Given the description of an element on the screen output the (x, y) to click on. 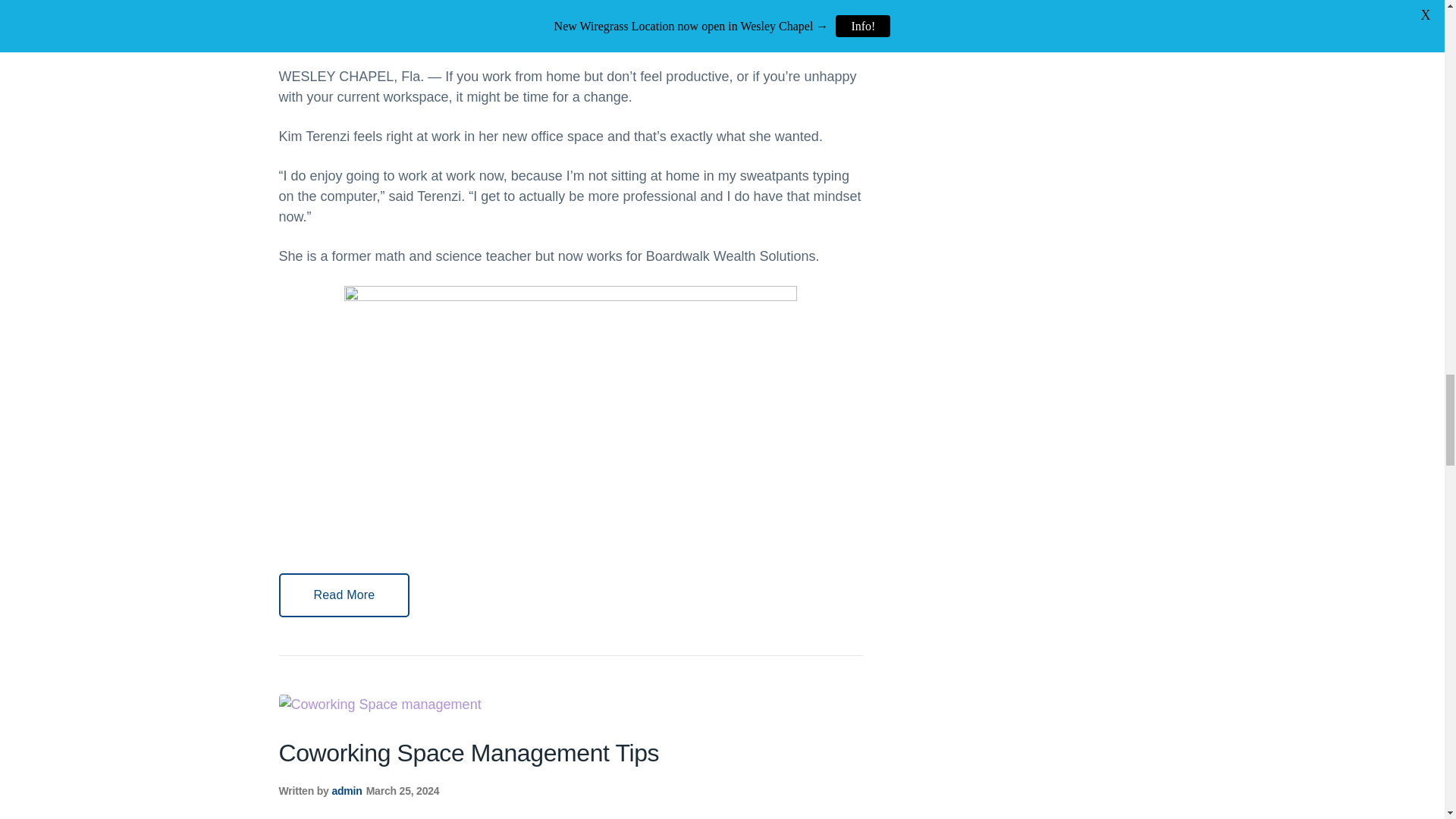
View all posts by Admin (347, 26)
View all posts by admin (346, 790)
Read More (344, 595)
